Given the description of an element on the screen output the (x, y) to click on. 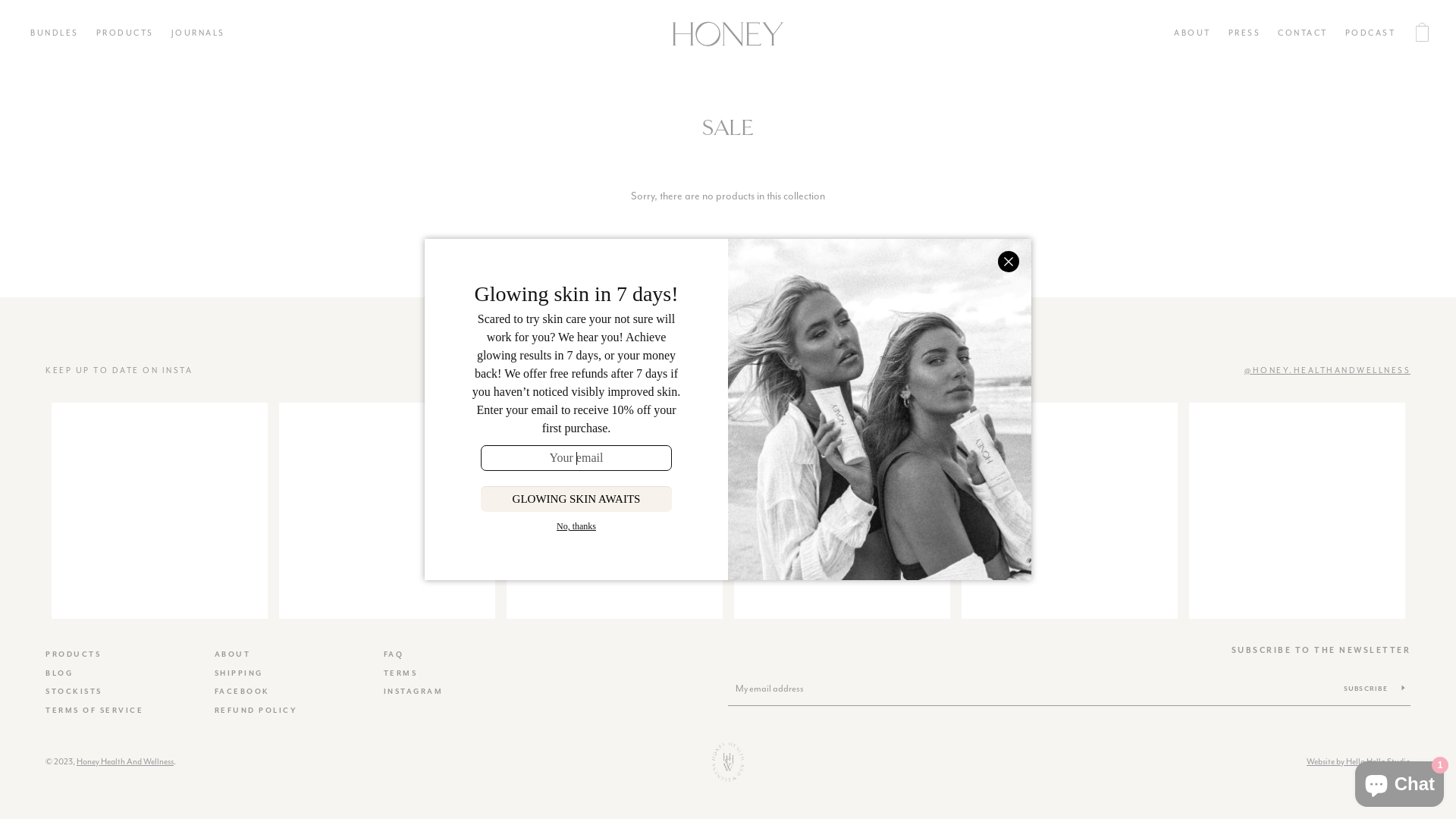
BLOG Element type: text (58, 672)
PRODUCTS Element type: text (123, 34)
PRODUCTS Element type: text (72, 653)
Honey Health And Wellness Element type: text (124, 761)
Website by Hello Hello Studio Element type: text (1358, 761)
CONTACT Element type: text (1302, 34)
ABOUT Element type: text (232, 653)
FACEBOOK Element type: text (241, 691)
REFUND POLICY Element type: text (256, 710)
Shopify online store chat Element type: hover (1399, 780)
PODCAST Element type: text (1370, 34)
SHIPPING Element type: text (238, 672)
VIEW CART Element type: text (1421, 34)
TERMS OF SERVICE Element type: text (94, 710)
TERMS Element type: text (400, 672)
STOCKISTS Element type: text (73, 691)
INSTAGRAM Element type: text (413, 691)
PRESS Element type: text (1244, 34)
FAQ Element type: text (393, 653)
ABOUT Element type: text (1192, 34)
BUNDLES Element type: text (54, 34)
Skip to content Element type: text (0, 0)
SUBSCRIBE Element type: text (1373, 688)
JOURNALS Element type: text (197, 34)
@HONEY.HEALTHANDWELLNESS Element type: text (1069, 370)
